Given the description of an element on the screen output the (x, y) to click on. 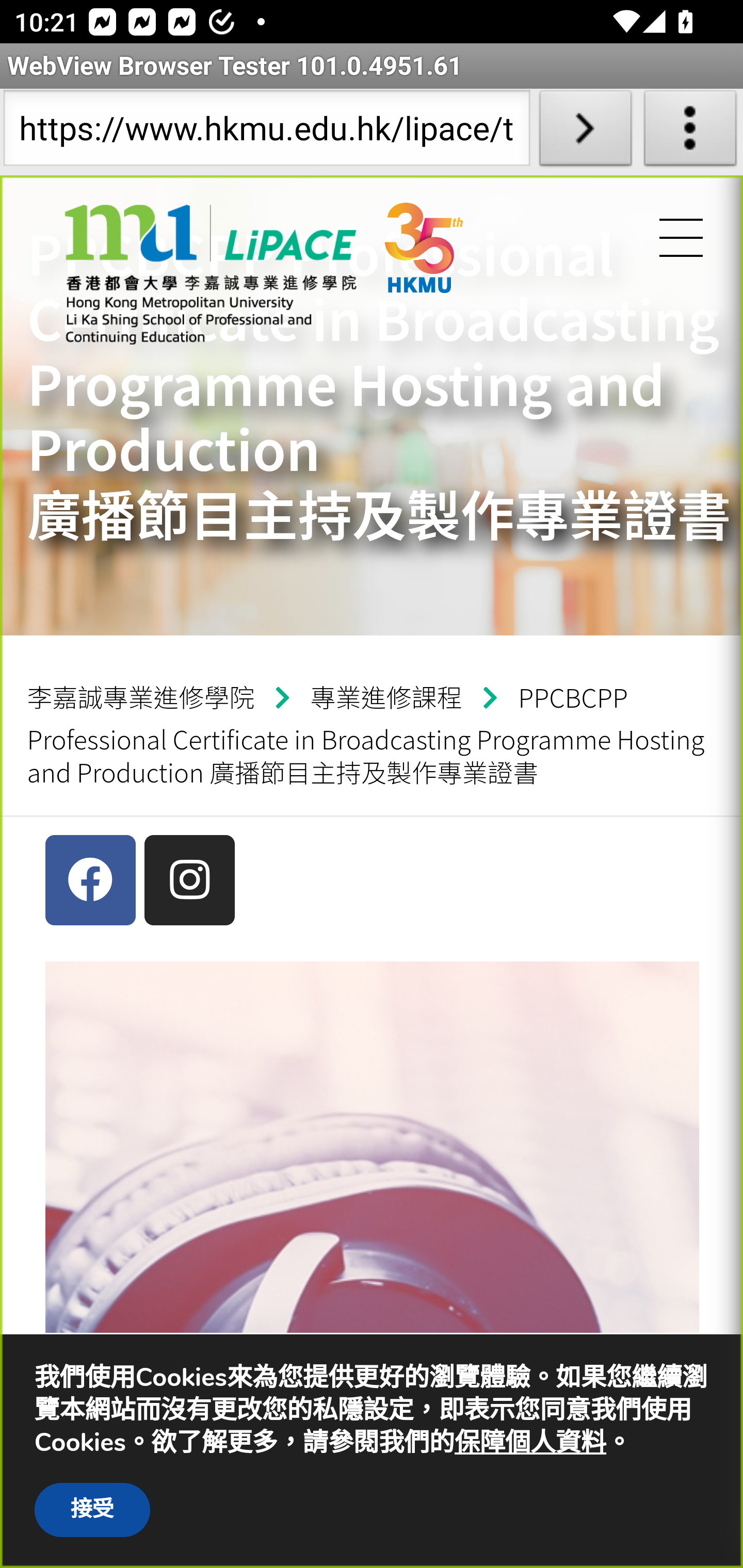
Load URL (585, 132)
About WebView (690, 132)
tc (209, 274)
tc (461, 278)
李嘉誠專業進修學院 (148, 696)
專業進修課程 (392, 696)
Facebook   (90, 880)
Instagram   (189, 880)
保障個人資料 (530, 1443)
接受 (91, 1509)
